Given the description of an element on the screen output the (x, y) to click on. 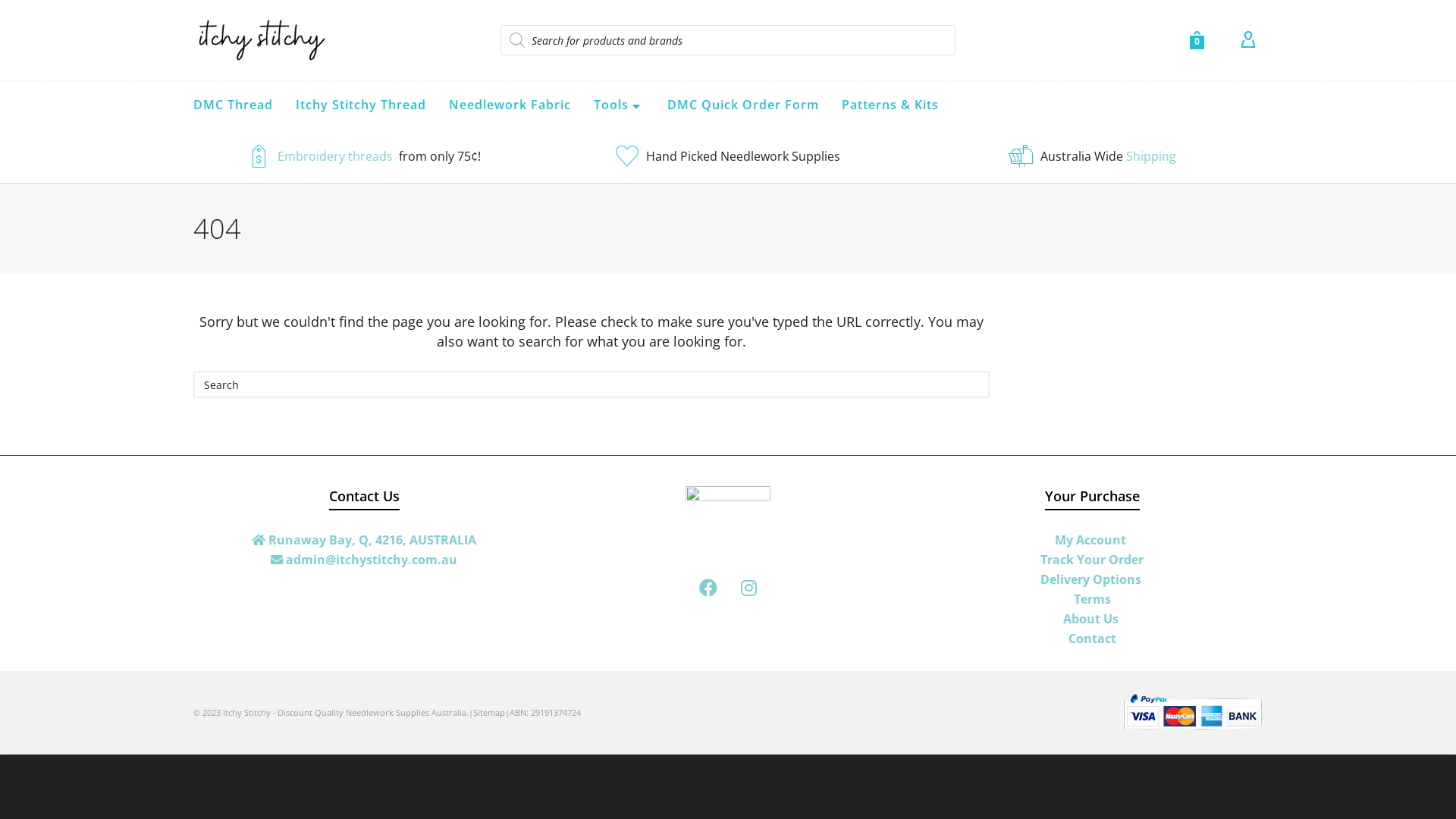
DMC Quick Order Form Element type: text (742, 104)
Track Your Order Element type: text (1091, 559)
0 Element type: text (1196, 40)
My Account  Element type: text (1091, 539)
Tools Element type: text (618, 105)
Terms Element type: text (1091, 598)
DMC Thread Element type: text (233, 104)
Embroidery threads Element type: text (336, 155)
Itchy Stitchy Thread Element type: text (360, 104)
Needlework Fabric Element type: text (509, 104)
Patterns & Kits Element type: text (890, 104)
Contact Element type: text (1091, 638)
Shipping Element type: text (1150, 156)
Sitemap Element type: text (489, 712)
admin@itchystitchy.com.au Element type: text (363, 559)
About Us  Element type: text (1092, 618)
Delivery Options  Element type: text (1092, 579)
